Given the description of an element on the screen output the (x, y) to click on. 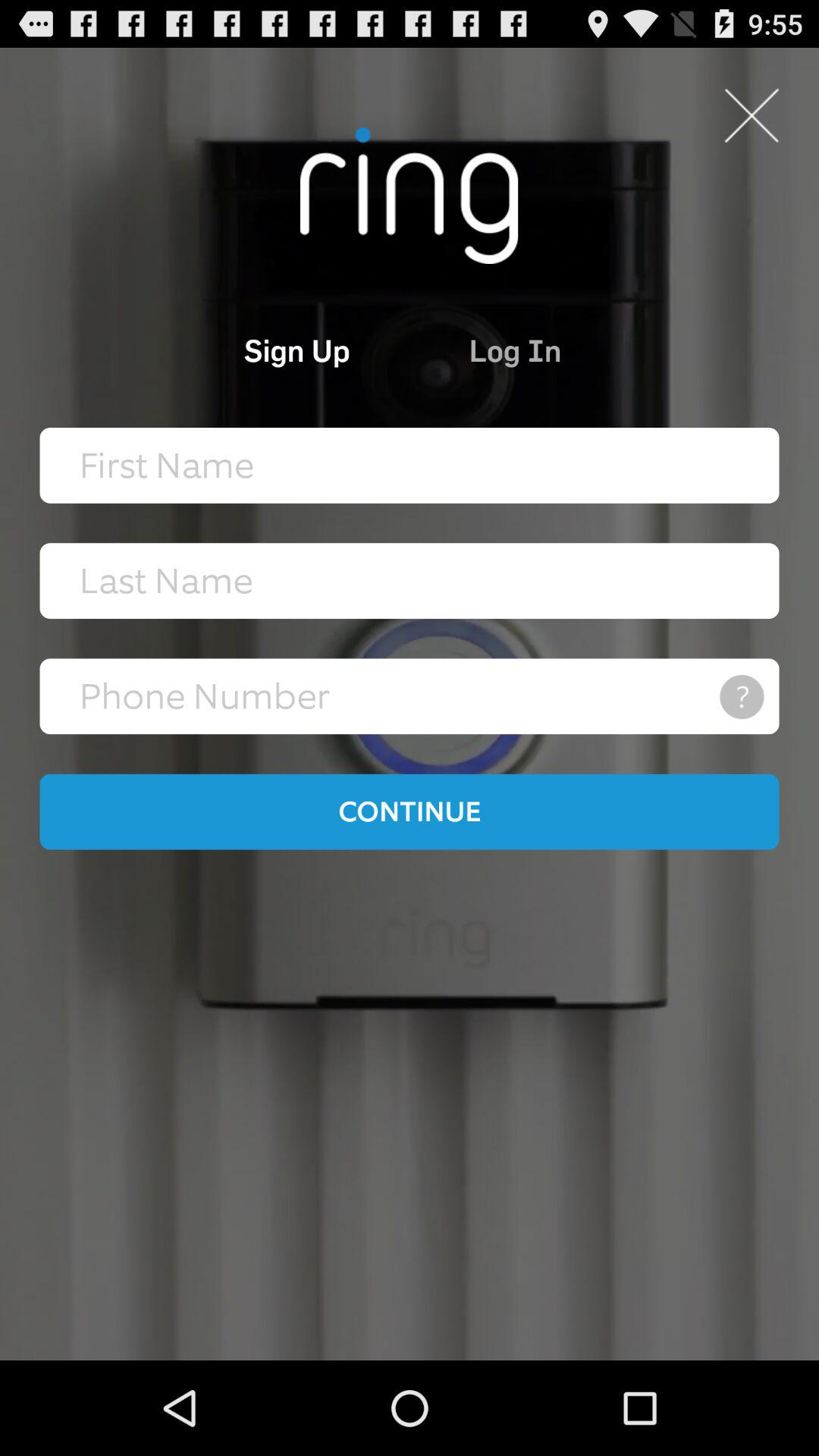
turn off the log in icon (584, 349)
